Given the description of an element on the screen output the (x, y) to click on. 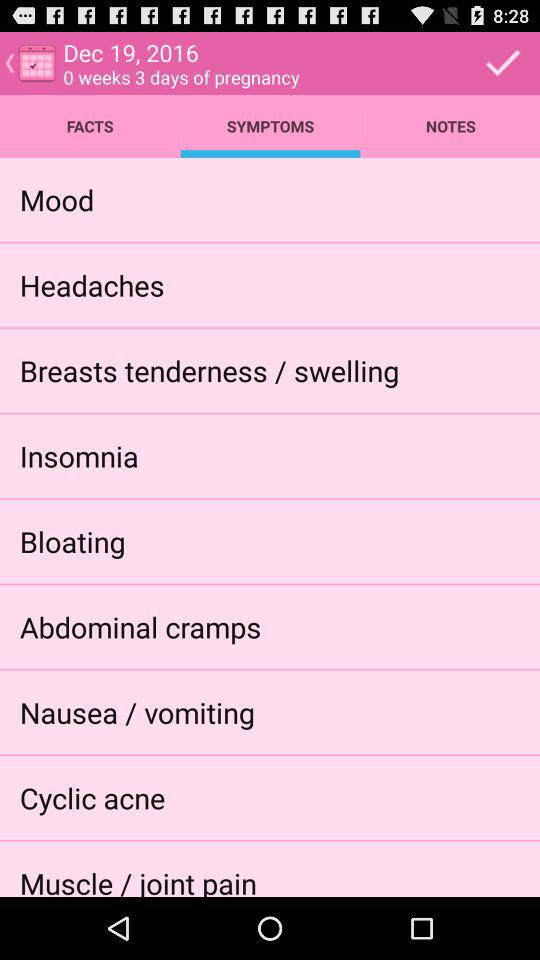
open the icon below bloating app (140, 626)
